Given the description of an element on the screen output the (x, y) to click on. 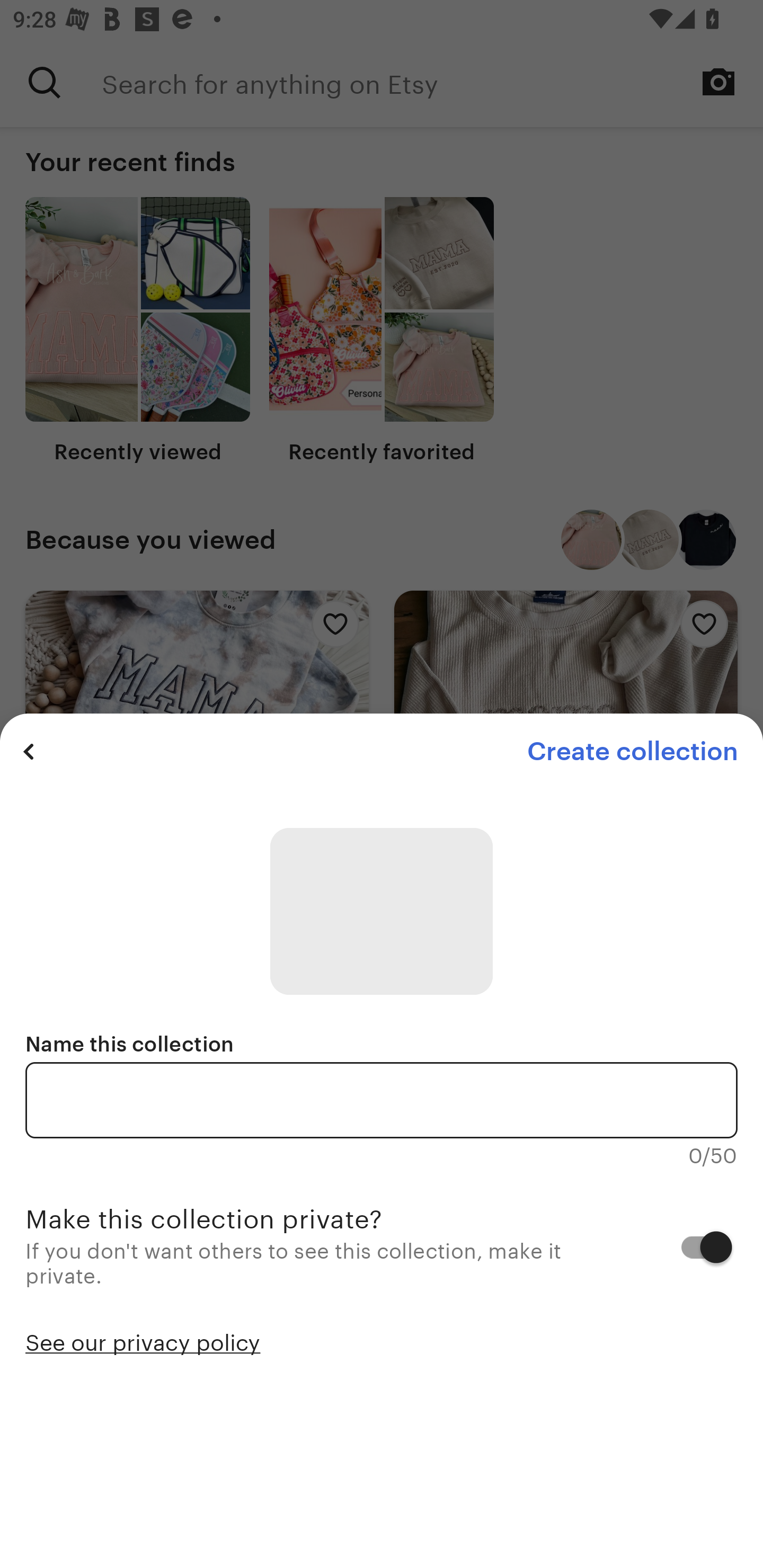
Previous (28, 751)
Create collection (632, 751)
See our privacy policy (142, 1341)
